Given the description of an element on the screen output the (x, y) to click on. 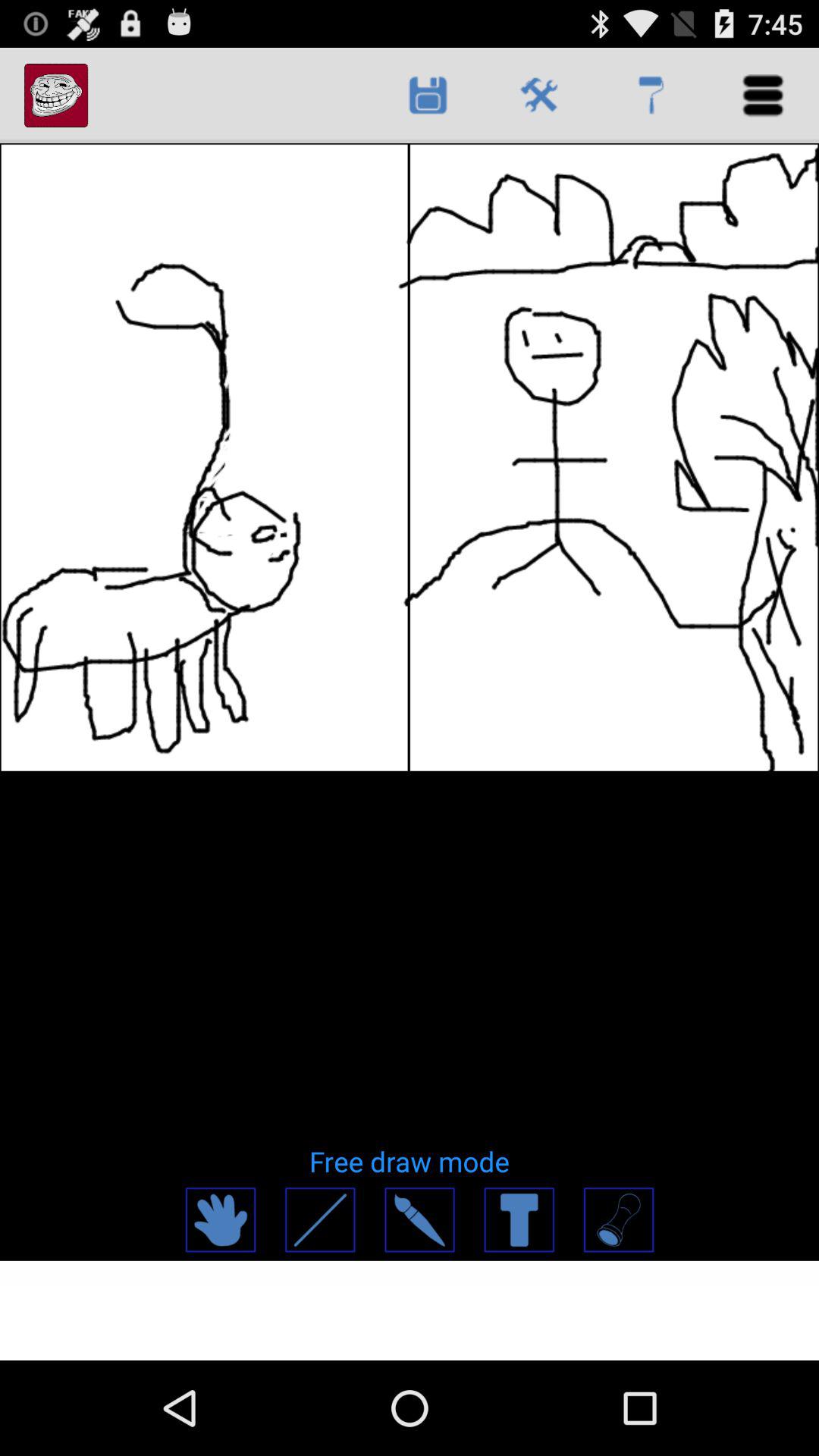
launch item at the bottom right corner (618, 1219)
